Given the description of an element on the screen output the (x, y) to click on. 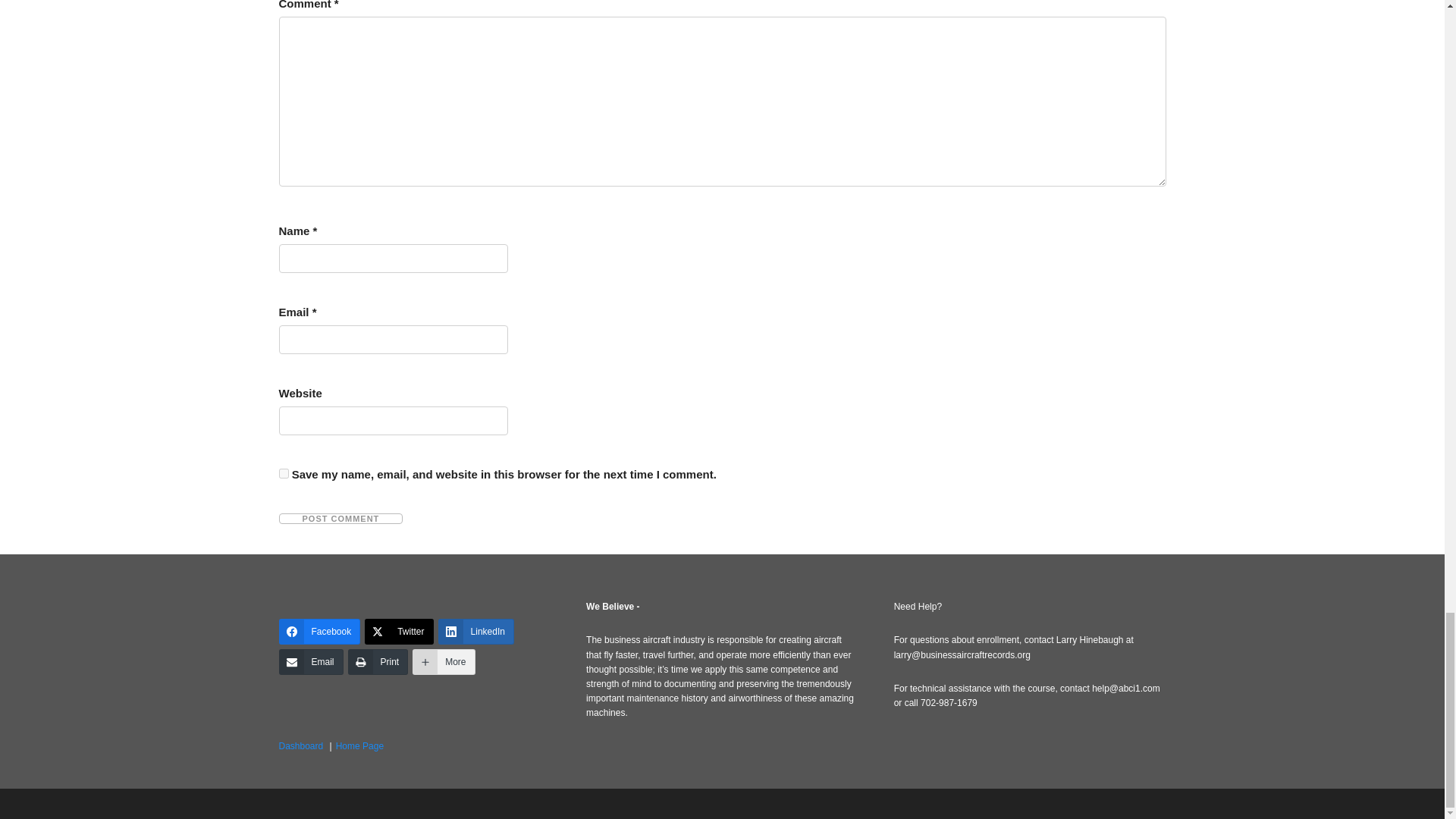
Post Comment (341, 518)
Dashboard (301, 746)
Email (311, 661)
More (443, 661)
Twitter (398, 631)
LinkedIn (475, 631)
yes (283, 473)
Home Page (360, 746)
Post Comment (341, 518)
Facebook (320, 631)
